Given the description of an element on the screen output the (x, y) to click on. 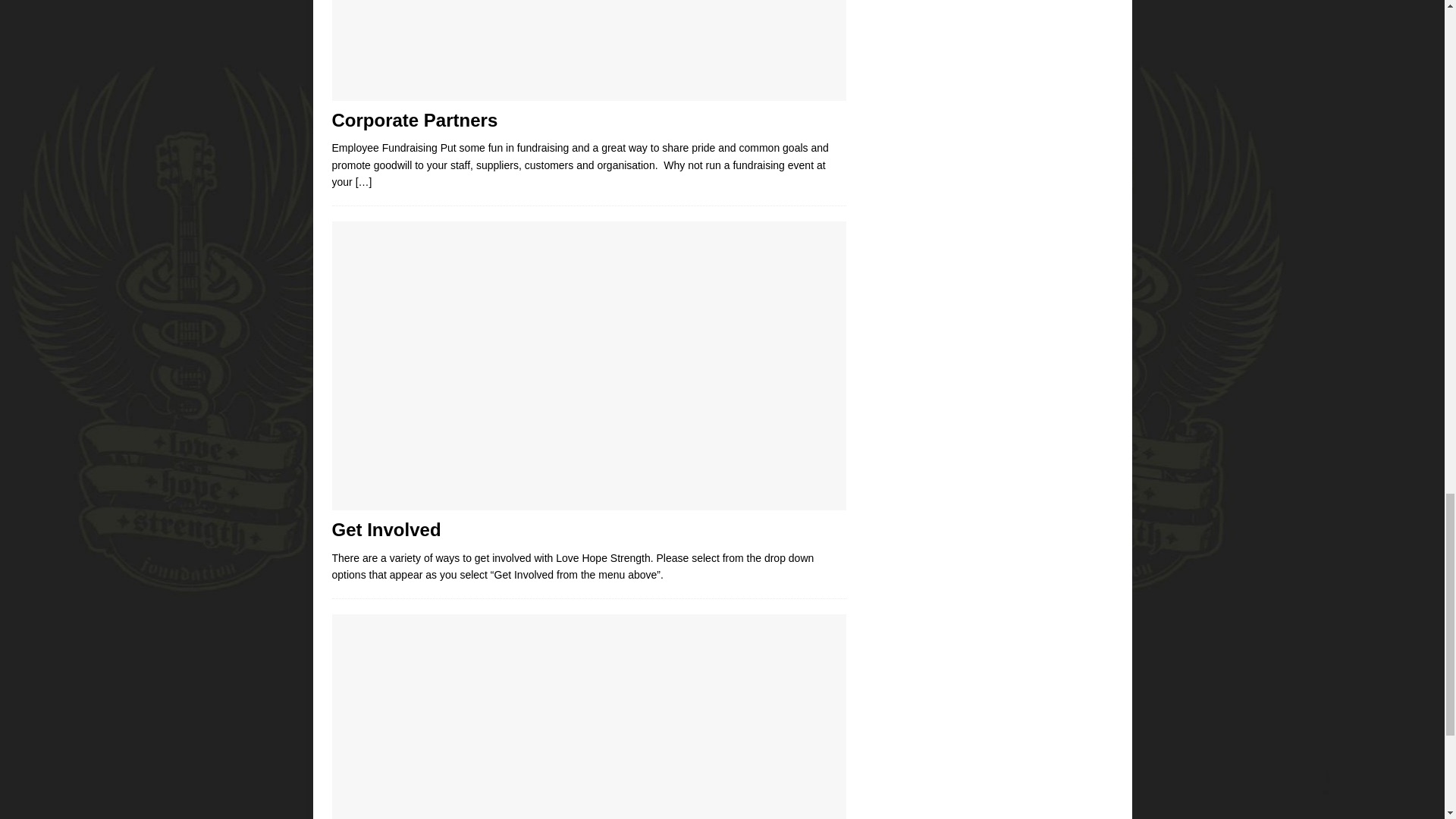
Corporate Partners (414, 119)
Campaigns (588, 716)
Corporate Partners (588, 50)
Corporate Partners (363, 182)
Get Involved (386, 529)
